Given the description of an element on the screen output the (x, y) to click on. 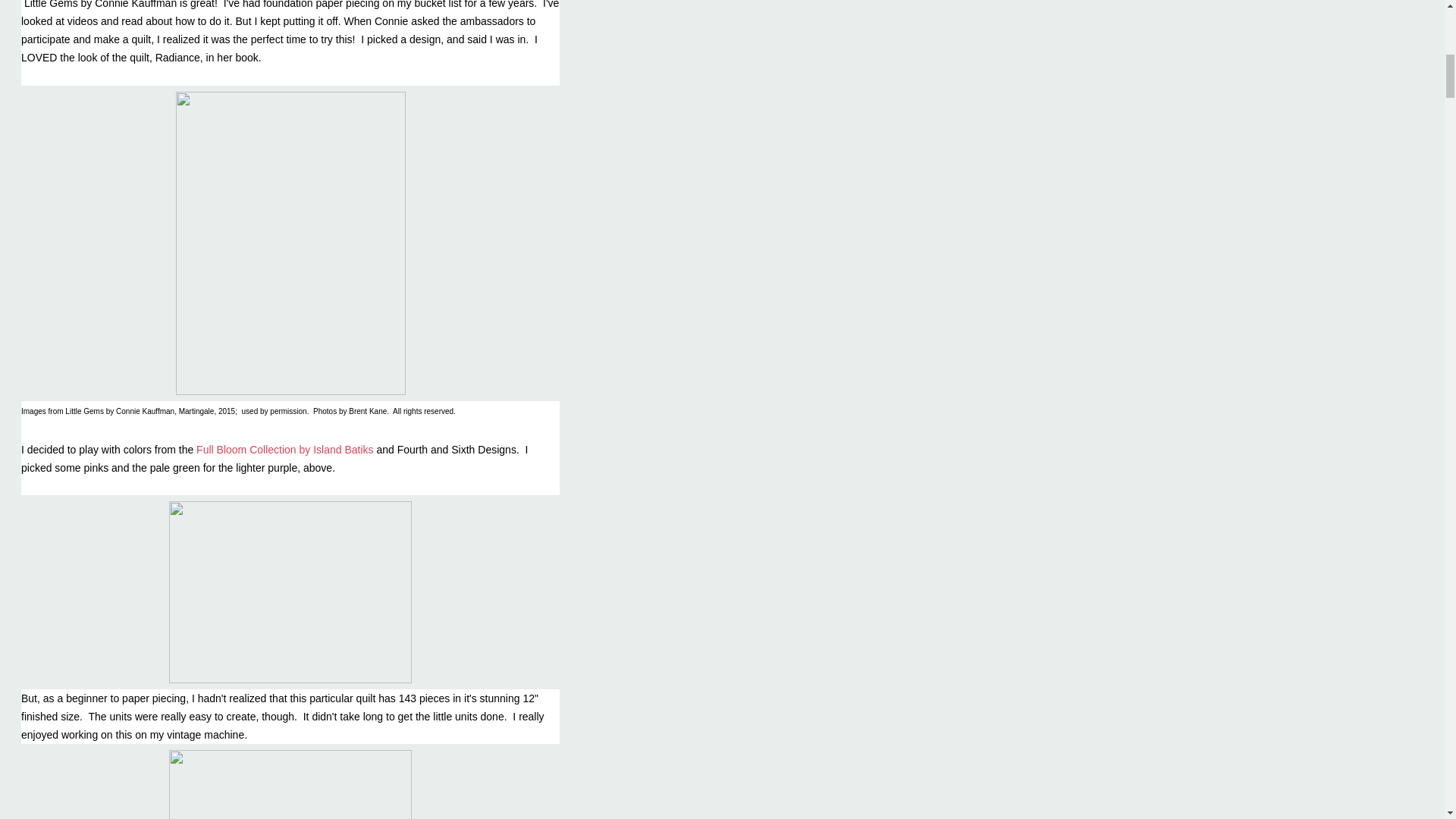
Full Bloom Collection by Island Batiks (284, 449)
